Given the description of an element on the screen output the (x, y) to click on. 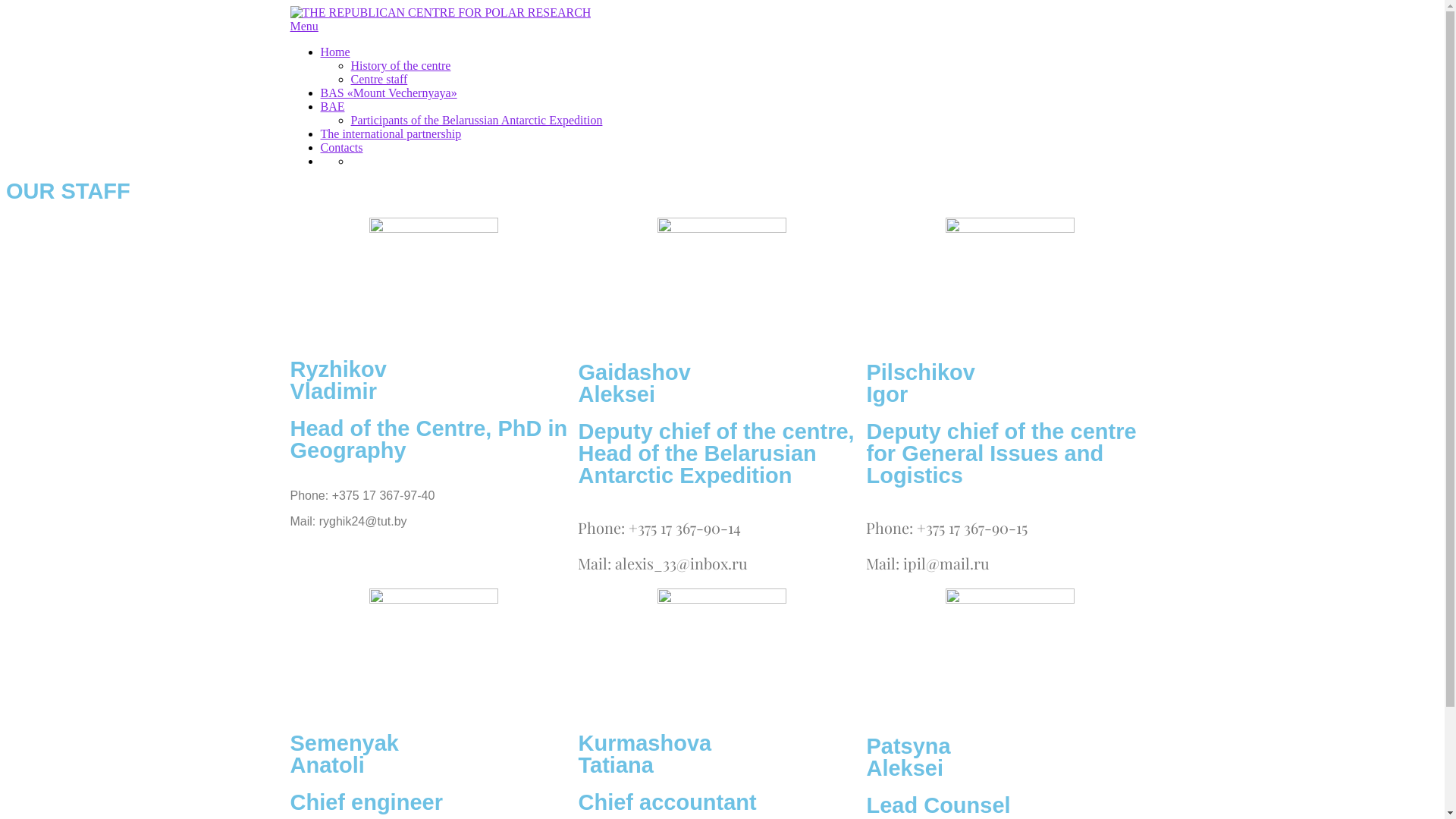
Centre staff Element type: text (378, 78)
Contacts Element type: text (341, 147)
Home Element type: text (334, 51)
BAE Element type: text (332, 106)
Menu Element type: text (303, 25)
Participants of the Belarussian Antarctic Expedition Element type: text (476, 119)
History of the centre Element type: text (400, 65)
The international partnership Element type: text (390, 133)
